Given the description of an element on the screen output the (x, y) to click on. 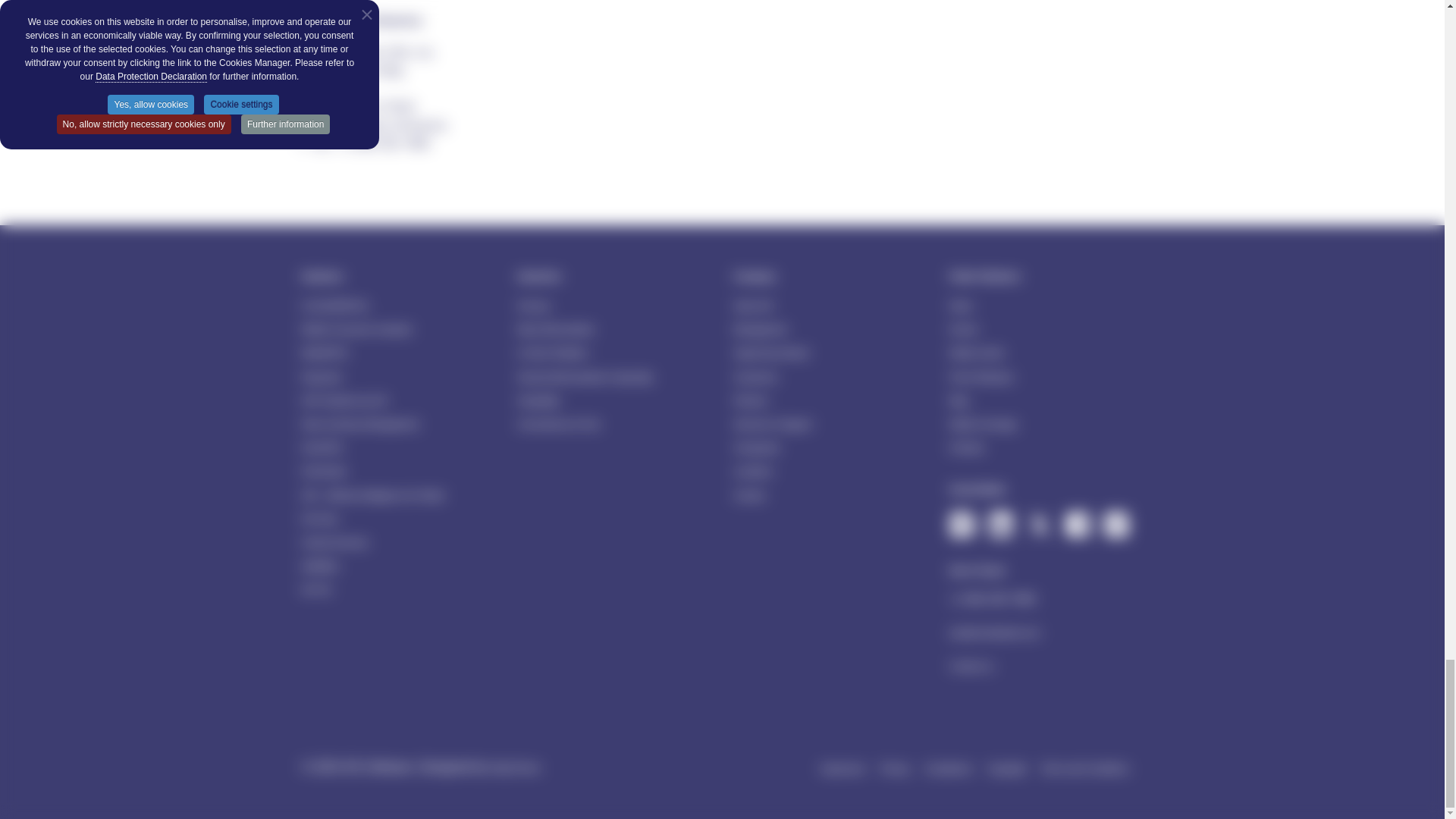
Grocery (533, 305)
OmniScale (323, 470)
eMailBon (320, 565)
Mobile Consumer Assistant (356, 329)
OmniPOS (321, 447)
GK Drive (320, 518)
Store Inventory Management (360, 424)
Payments (321, 376)
Mass Merchandise (555, 329)
In-Store Retailers (552, 352)
SAP Solutions by GK (344, 400)
Central Services (334, 542)
CLOUD4RETAIL (335, 305)
MobilePOS (324, 352)
AIR - Artificial Intelligence for Retail (372, 495)
